Given the description of an element on the screen output the (x, y) to click on. 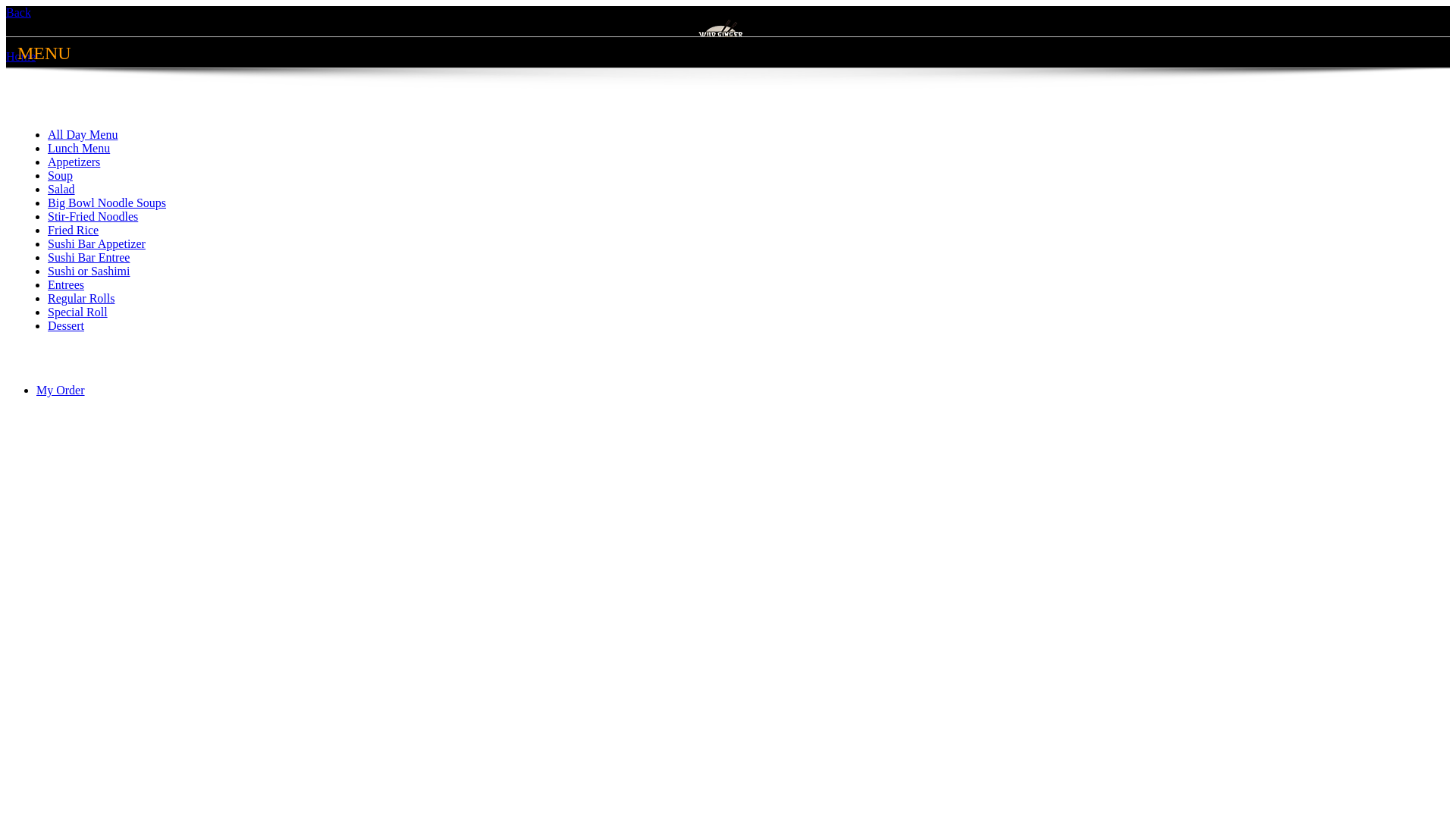
Stir-Fried Noodles Element type: text (92, 216)
Back Element type: text (18, 12)
Big Bowl Noodle Soups Element type: text (106, 202)
All Day Menu Element type: text (82, 134)
Sushi Bar Entree Element type: text (88, 257)
Regular Rolls Element type: text (80, 297)
Soup Element type: text (59, 175)
Lunch Menu Element type: text (78, 147)
My Order Element type: text (60, 389)
Sushi or Sashimi Element type: text (88, 270)
Entrees Element type: text (65, 284)
Dessert Element type: text (65, 325)
Home Element type: text (20, 56)
Special Roll Element type: text (77, 311)
Appetizers Element type: text (73, 161)
Fried Rice Element type: text (72, 229)
Salad Element type: text (61, 188)
Sushi Bar Appetizer Element type: text (96, 243)
